Given the description of an element on the screen output the (x, y) to click on. 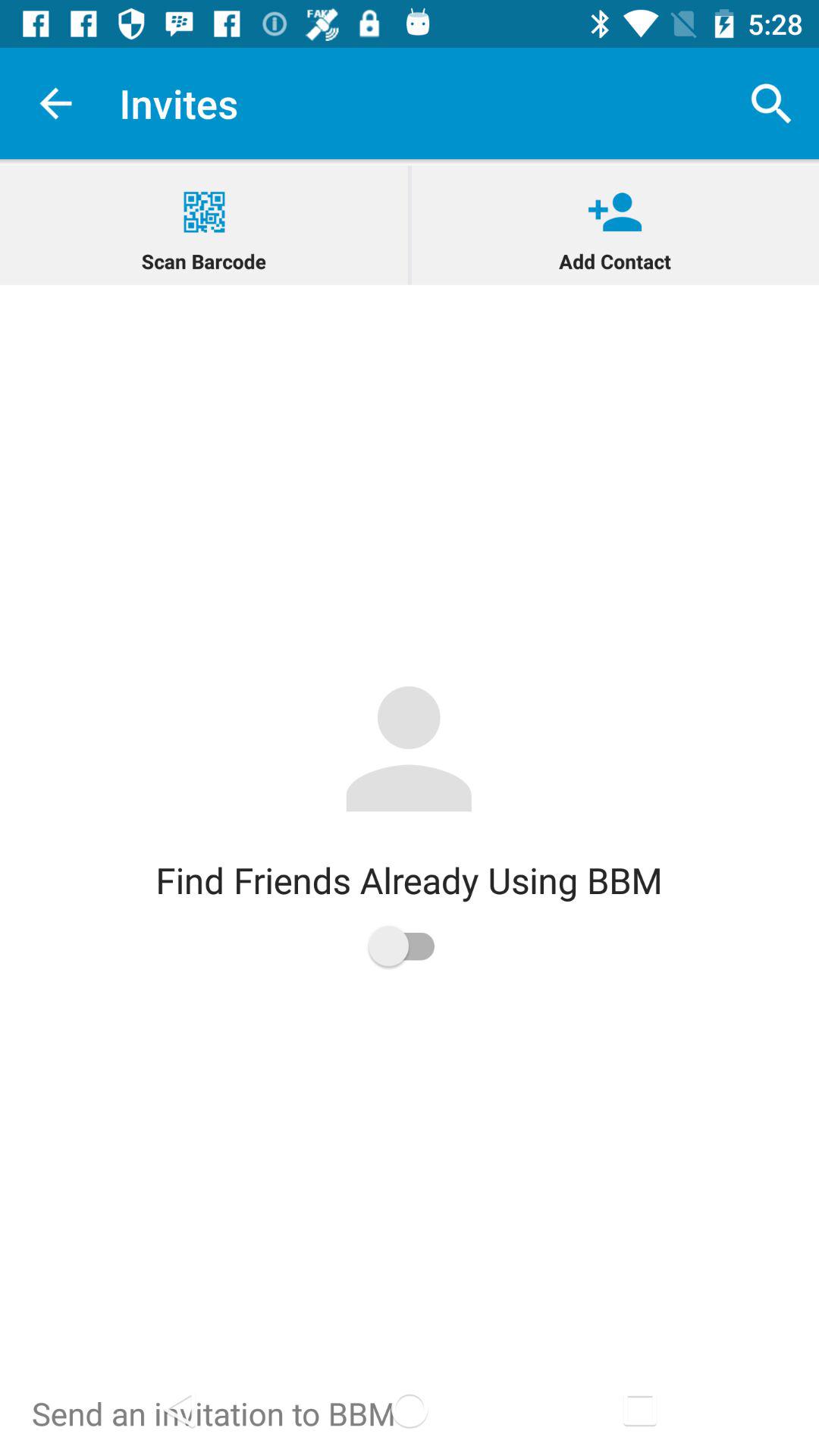
launch app next to the invites icon (55, 103)
